Given the description of an element on the screen output the (x, y) to click on. 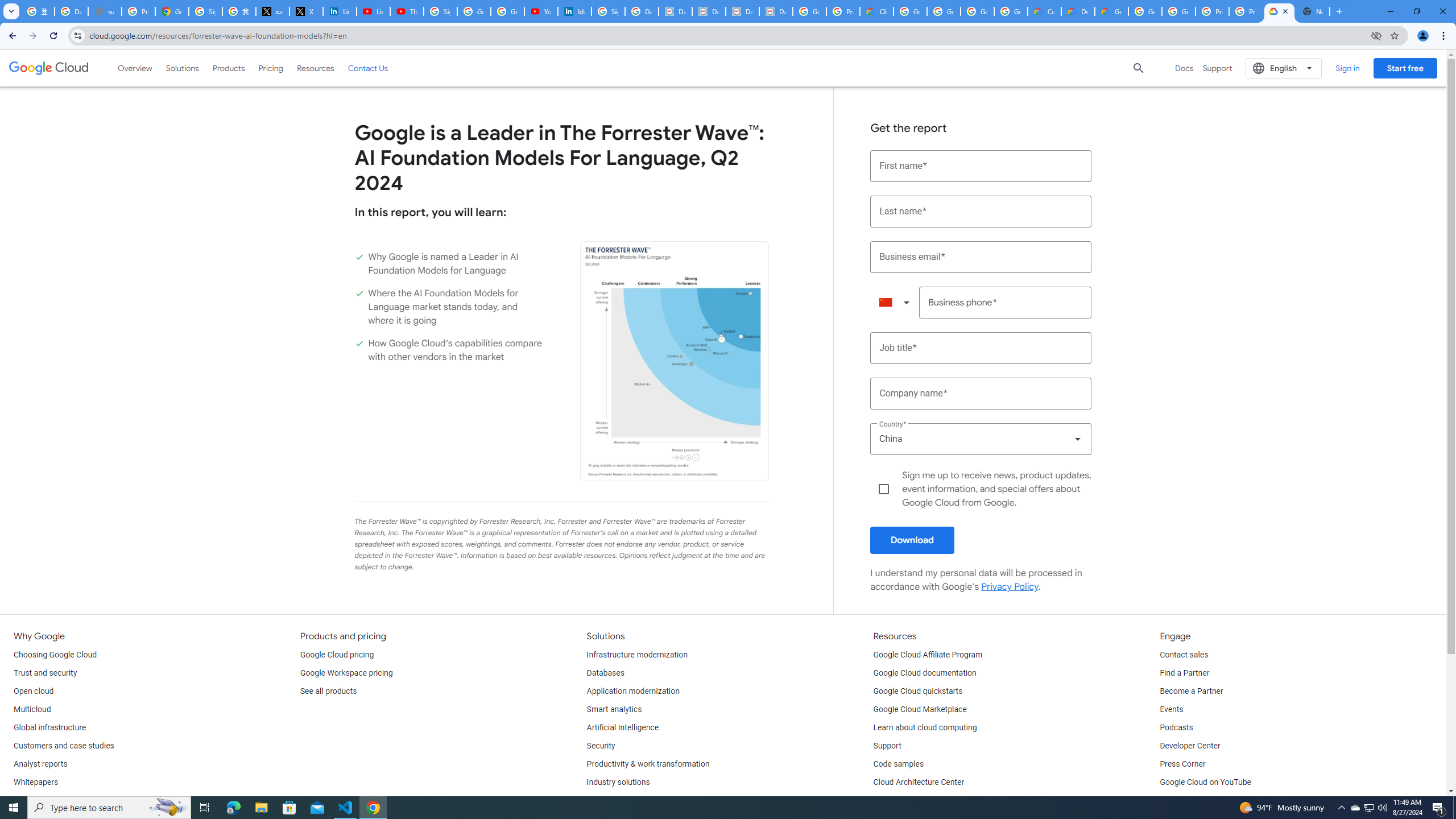
Google Cloud Affiliate Program (927, 655)
Google Cloud pricing (336, 655)
Events (1170, 710)
Customers and case studies (64, 746)
Cloud Data Processing Addendum | Google Cloud (876, 11)
Last name* (981, 211)
Country China (981, 439)
Google Cloud documentation (924, 673)
Artificial Intelligence (622, 728)
Solutions (181, 67)
Google Workspace - Specific Terms (976, 11)
